Given the description of an element on the screen output the (x, y) to click on. 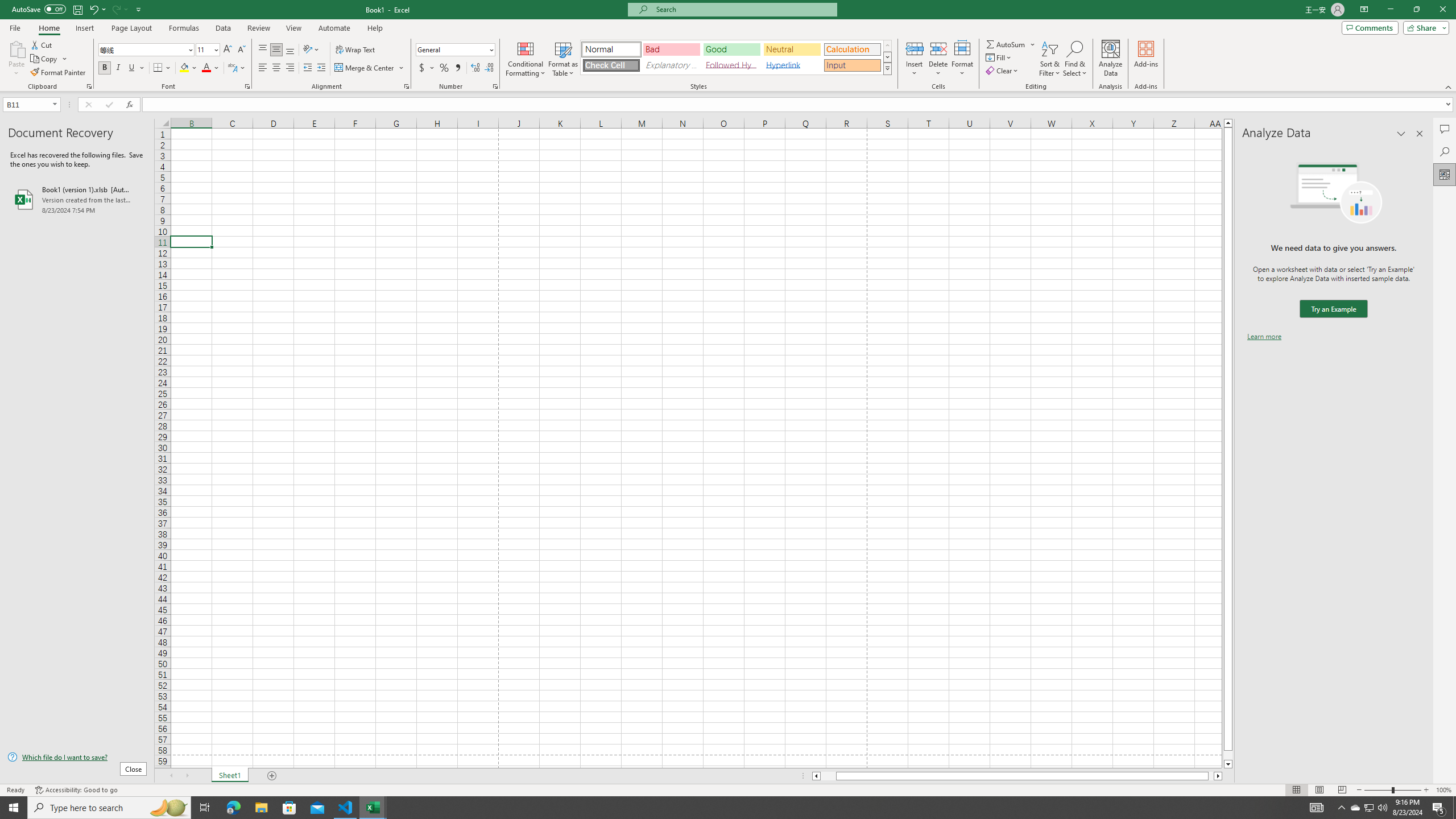
Underline (131, 67)
Font Size (204, 49)
Underline (136, 67)
Bottom Align (290, 49)
AutoSum (1011, 44)
Format Cell Alignment (405, 85)
Bottom Border (157, 67)
Sort & Filter (1049, 58)
Comma Style (457, 67)
Orientation (311, 49)
